Given the description of an element on the screen output the (x, y) to click on. 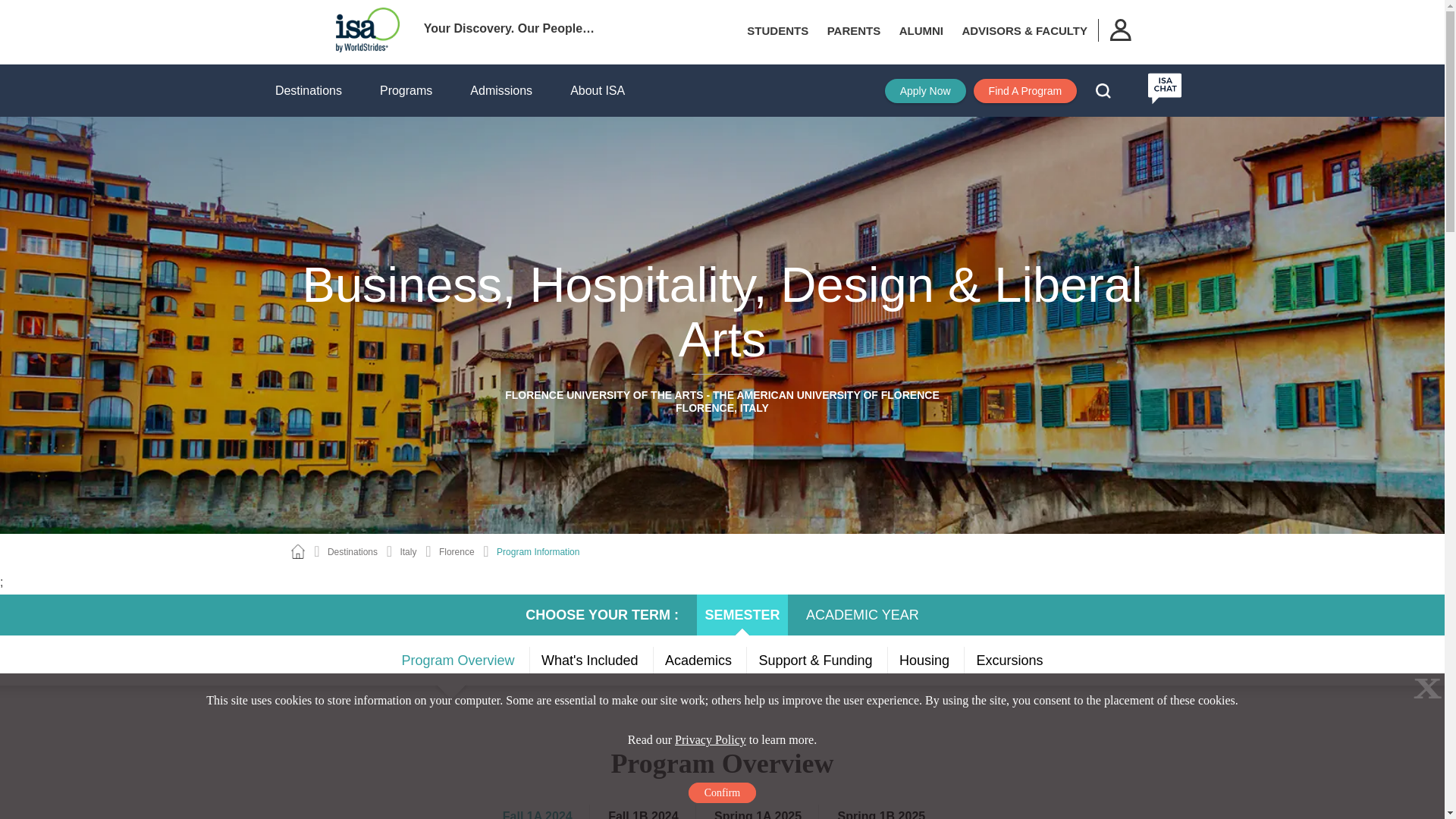
Students (777, 30)
PARENTS (853, 30)
STUDENTS (777, 30)
ISA Header Logo (366, 29)
Alumni (920, 30)
Parents (853, 30)
ALUMNI (920, 30)
